Given the description of an element on the screen output the (x, y) to click on. 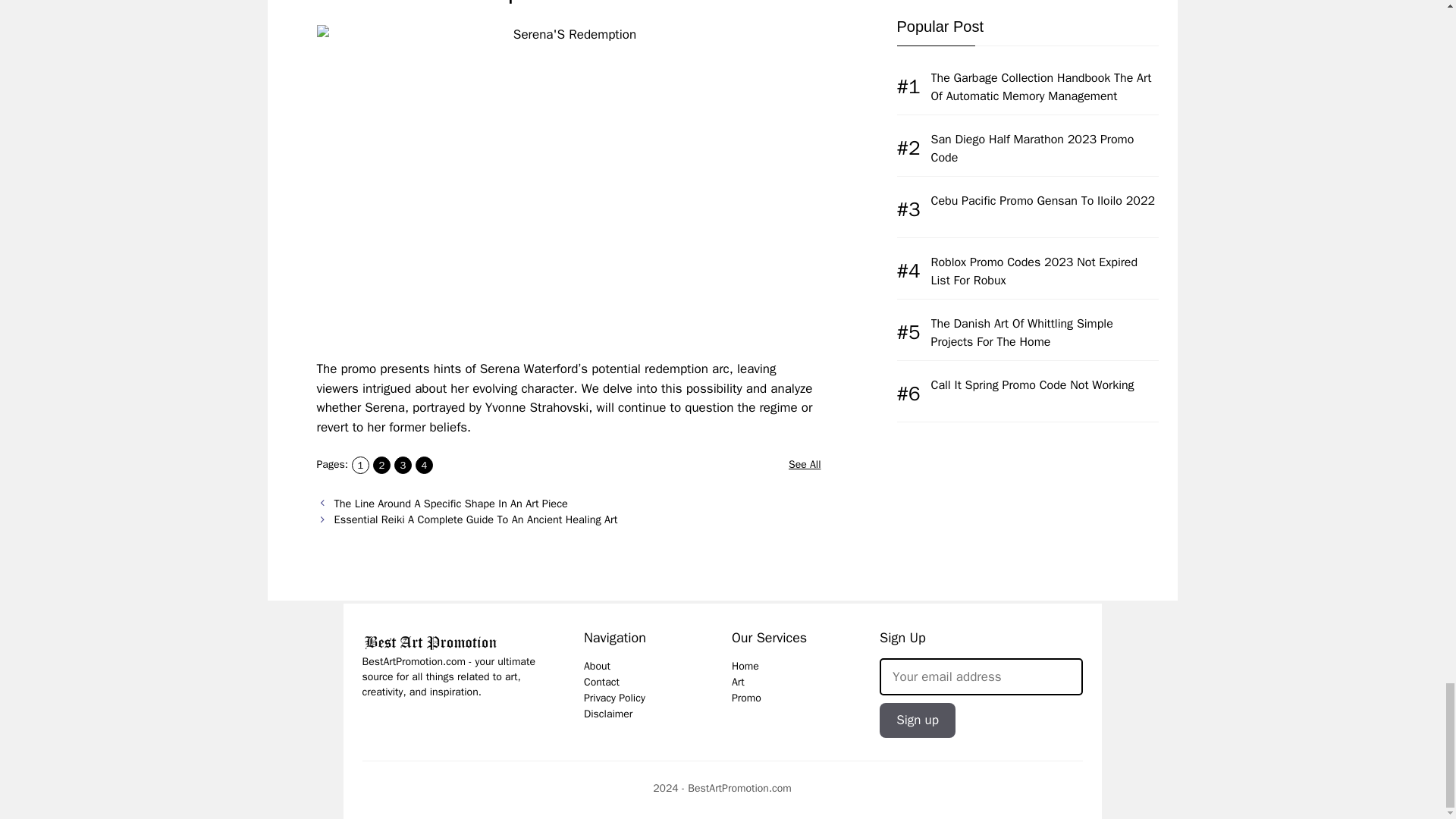
3 (403, 465)
2 (381, 465)
See All (805, 463)
Sign up (917, 719)
The Line Around A Specific Shape In An Art Piece (450, 503)
4 (423, 465)
